Given the description of an element on the screen output the (x, y) to click on. 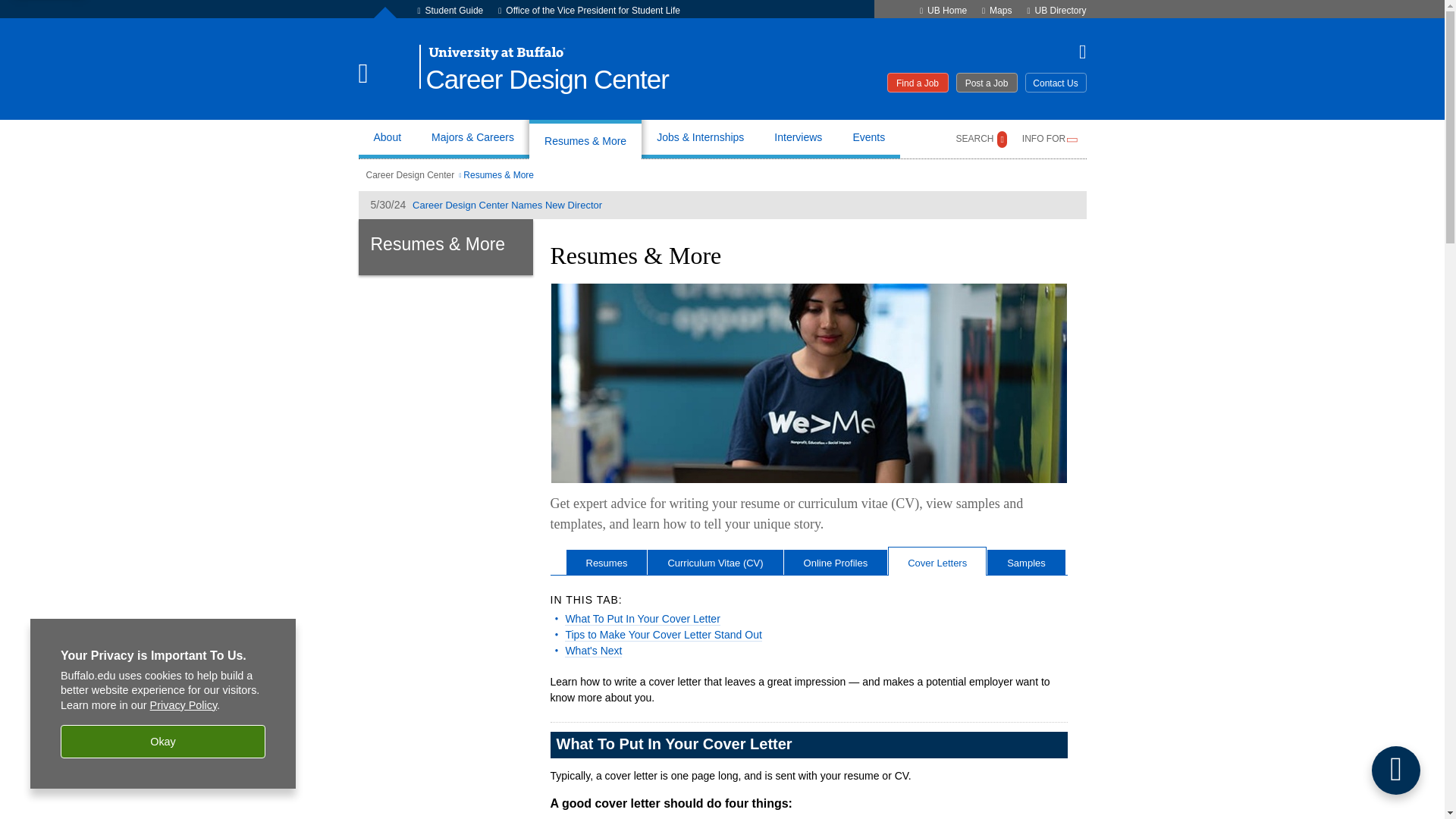
Find a Job (917, 82)
Post a Job (985, 82)
Student Guide (454, 9)
Office of the Vice President for Student Life (592, 9)
UB Home (946, 9)
Career Design Center (547, 79)
UB Directory (1059, 9)
UB Career Design Center Instagram (1075, 51)
Contact Us (1055, 82)
Events (868, 138)
About (386, 138)
Interviews (797, 138)
Maps (1000, 9)
